Given the description of an element on the screen output the (x, y) to click on. 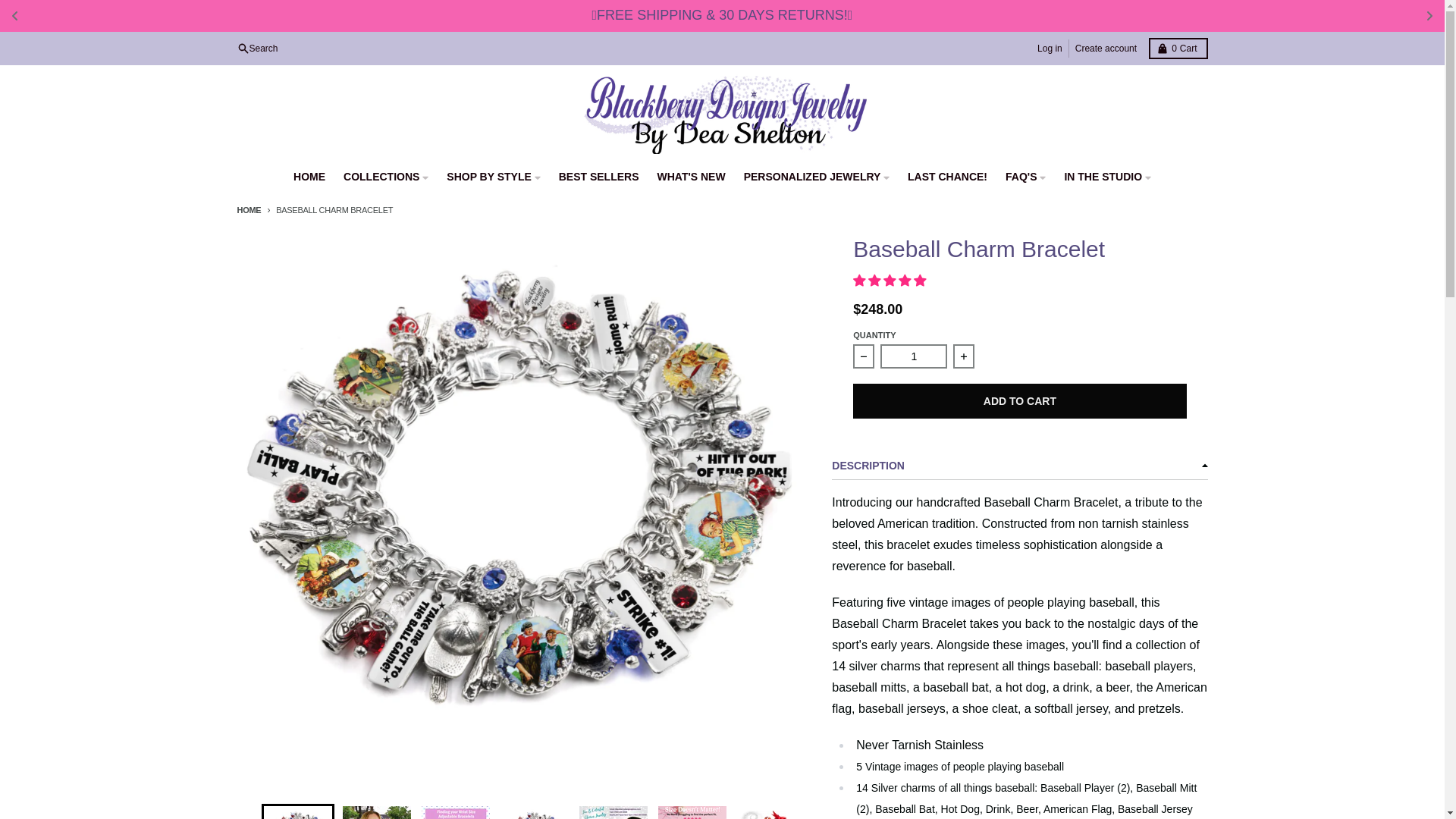
Log in (1177, 47)
Search (1049, 48)
Create account (256, 48)
Back to the homepage (1105, 48)
1 (247, 209)
